Given the description of an element on the screen output the (x, y) to click on. 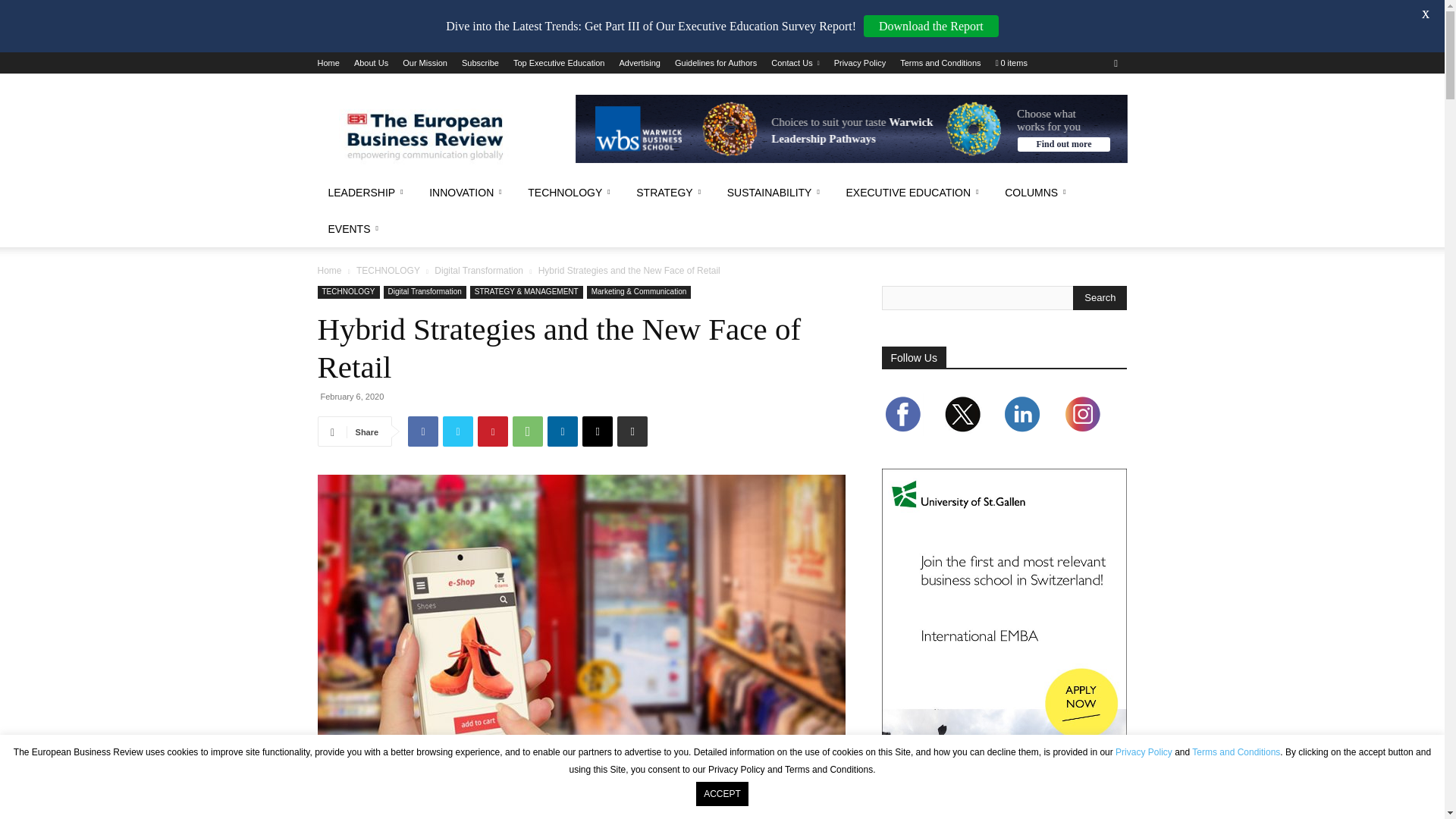
View all posts in Digital Transformation (477, 270)
Innovation (467, 192)
Pinterest (492, 431)
WhatsApp (527, 431)
advertisement (850, 128)
View all posts in TECHNOLOGY (388, 270)
Facebook (422, 431)
Search (1099, 297)
Twitter (457, 431)
Start shopping (1011, 62)
